Given the description of an element on the screen output the (x, y) to click on. 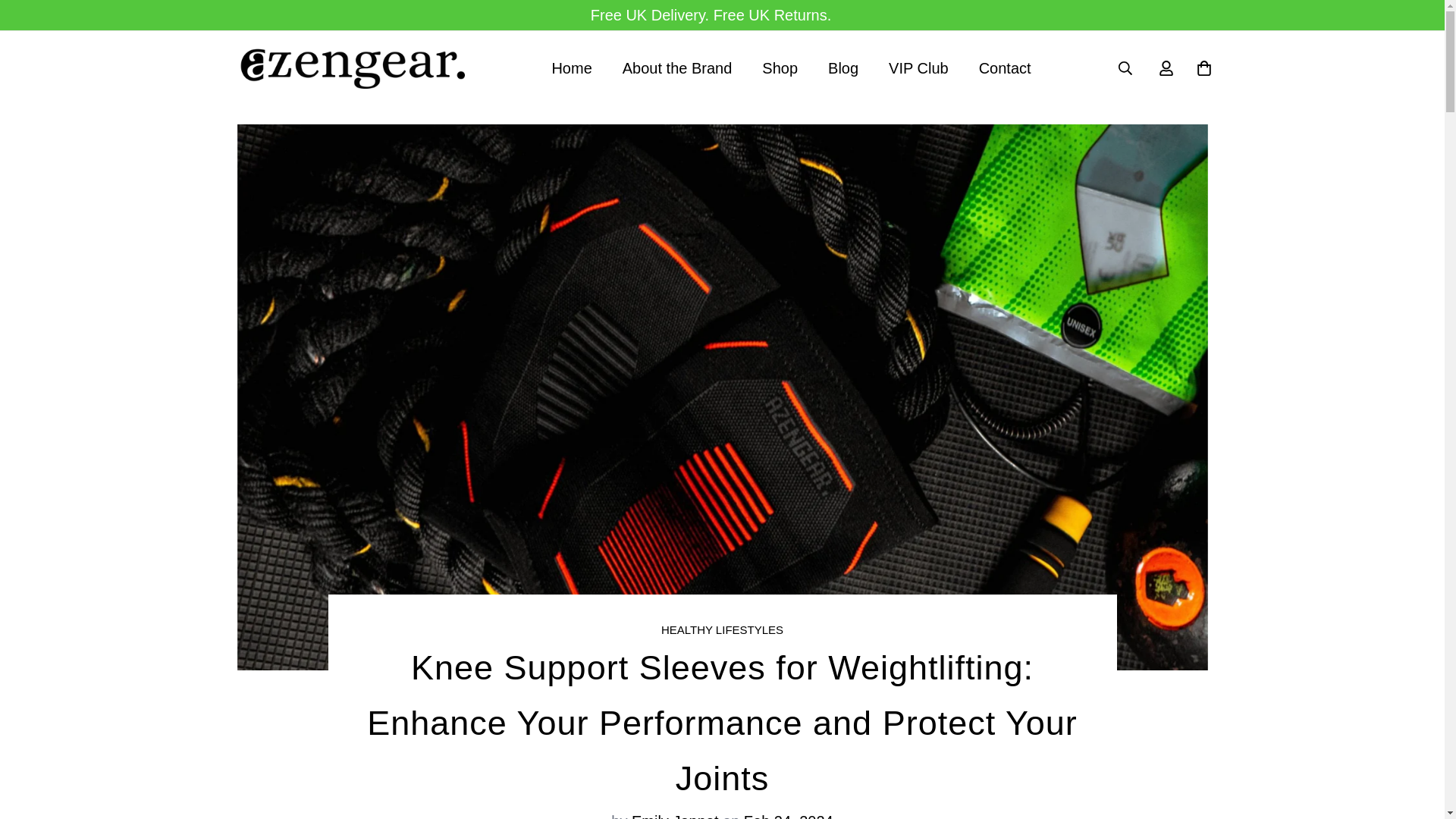
Shop (779, 68)
aZengear (349, 67)
Home (571, 68)
HEALTHY LIFESTYLES (790, 68)
Blog (722, 629)
VIP Club (842, 68)
Contact (790, 68)
About the Brand (918, 68)
